Given the description of an element on the screen output the (x, y) to click on. 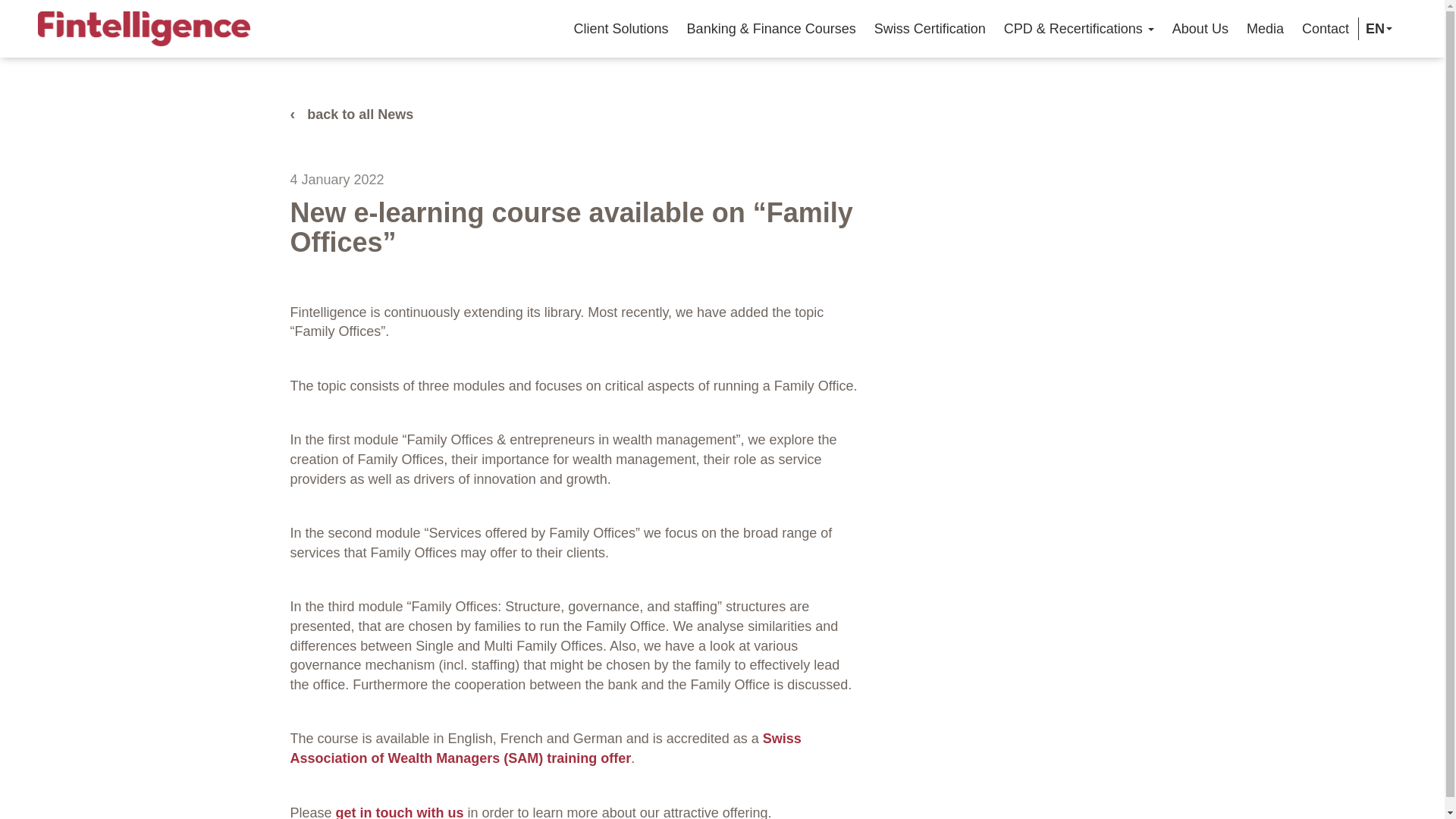
get in touch with us (400, 812)
Swiss Certification (929, 28)
Swiss Certification (929, 28)
Media (1264, 28)
Client Solutions (621, 28)
 EN (1376, 28)
EN (1376, 28)
Client Solutions (621, 28)
Media (1264, 28)
Contact (1325, 28)
